Given the description of an element on the screen output the (x, y) to click on. 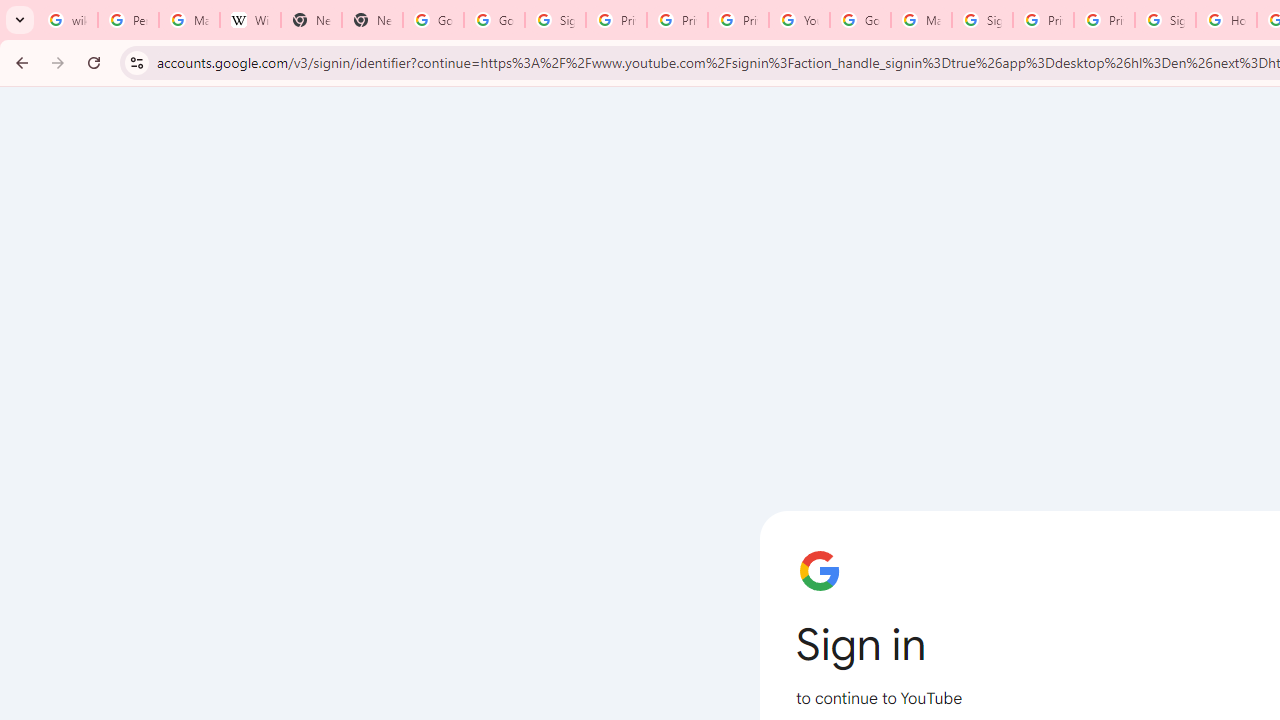
Sign in - Google Accounts (982, 20)
Personalization & Google Search results - Google Search Help (128, 20)
Manage your Location History - Google Search Help (189, 20)
Sign in - Google Accounts (1165, 20)
YouTube (799, 20)
Google Account Help (859, 20)
